Given the description of an element on the screen output the (x, y) to click on. 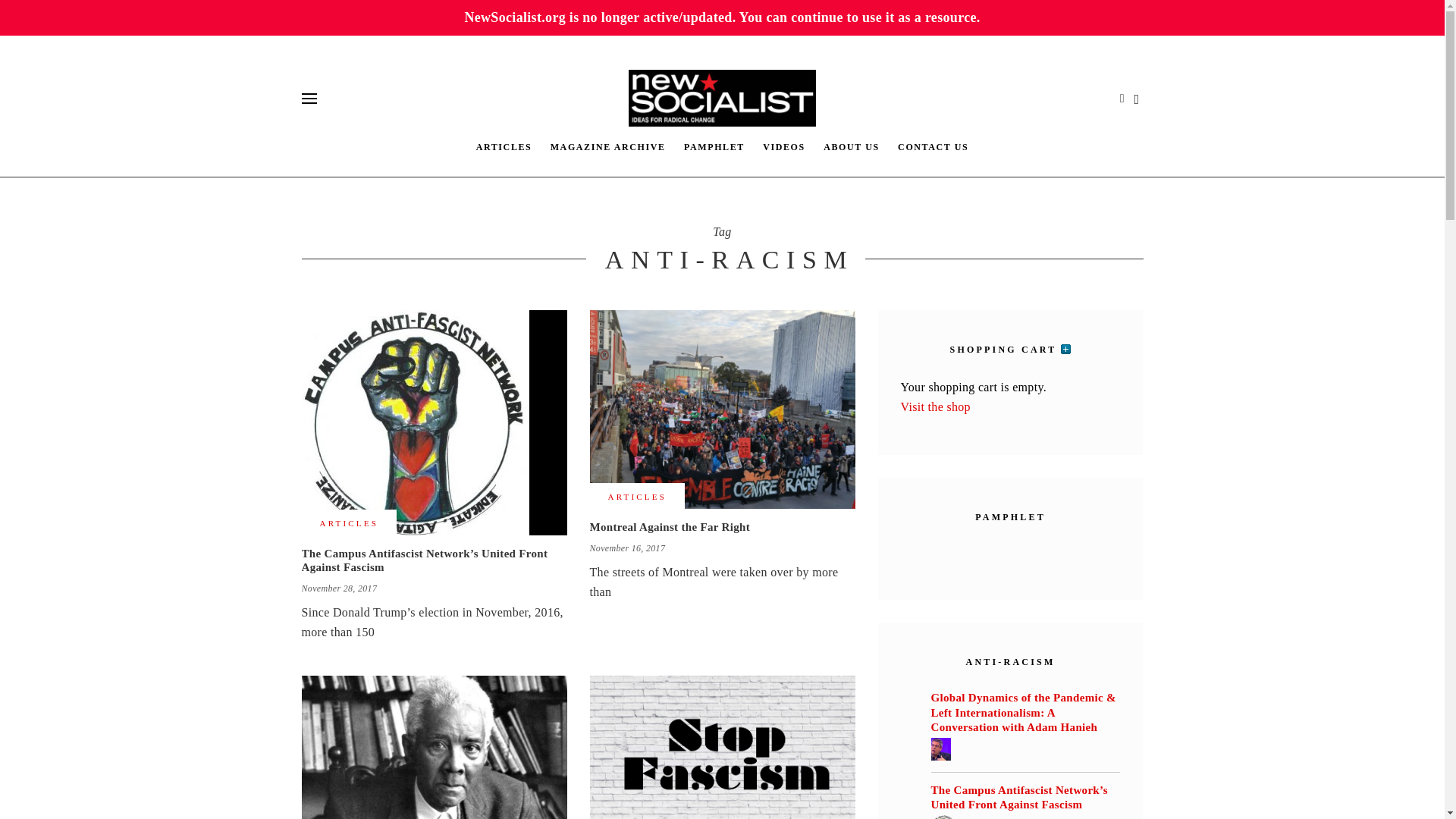
ABOUT US (850, 145)
VIDEOS (783, 145)
The Marxism of C.L.R. James (434, 747)
CONTACT US (932, 145)
ARTICLES (504, 145)
PAMPHLET (714, 145)
Montreal Against the Far Right (722, 409)
New Socialist (722, 97)
MAGAZINE ARCHIVE (607, 145)
